Given the description of an element on the screen output the (x, y) to click on. 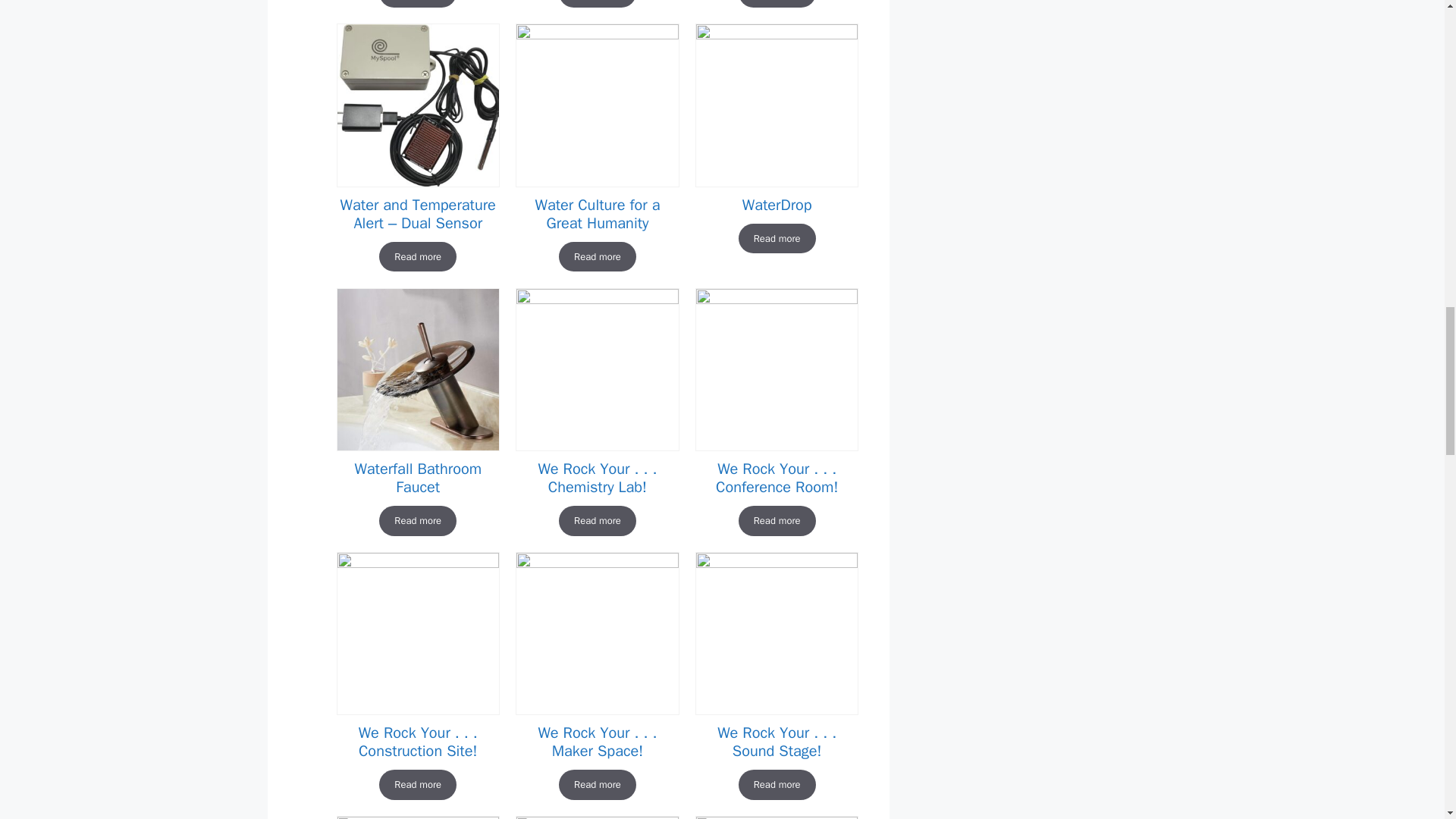
WaterDrop-Logo - We Rock Your World! (777, 104)
Hydroponics - Logo001 - We Rock Your World! (596, 104)
Water Temperature Alert - We Rock Your World! (417, 104)
Read more (417, 4)
